Given the description of an element on the screen output the (x, y) to click on. 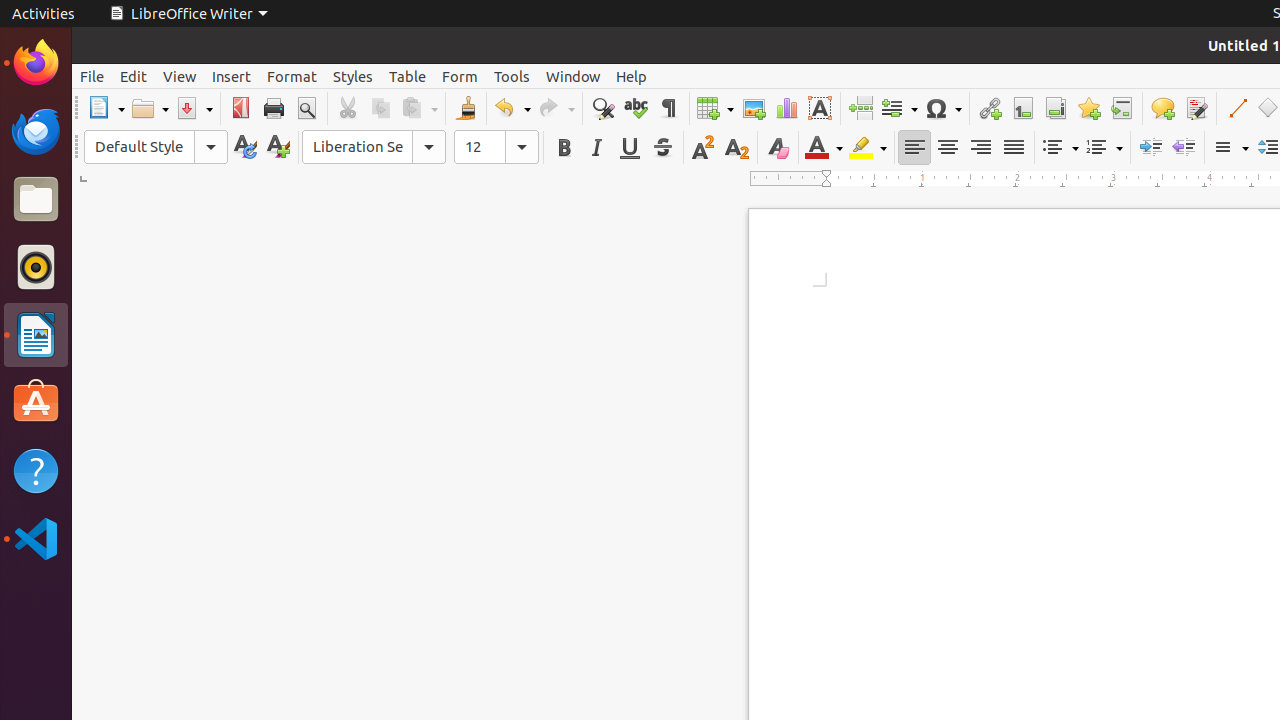
Styles Element type: menu (353, 76)
Left Element type: toggle-button (914, 147)
Numbering Element type: push-button (1104, 147)
Window Element type: menu (573, 76)
Comment Element type: push-button (1162, 108)
